Given the description of an element on the screen output the (x, y) to click on. 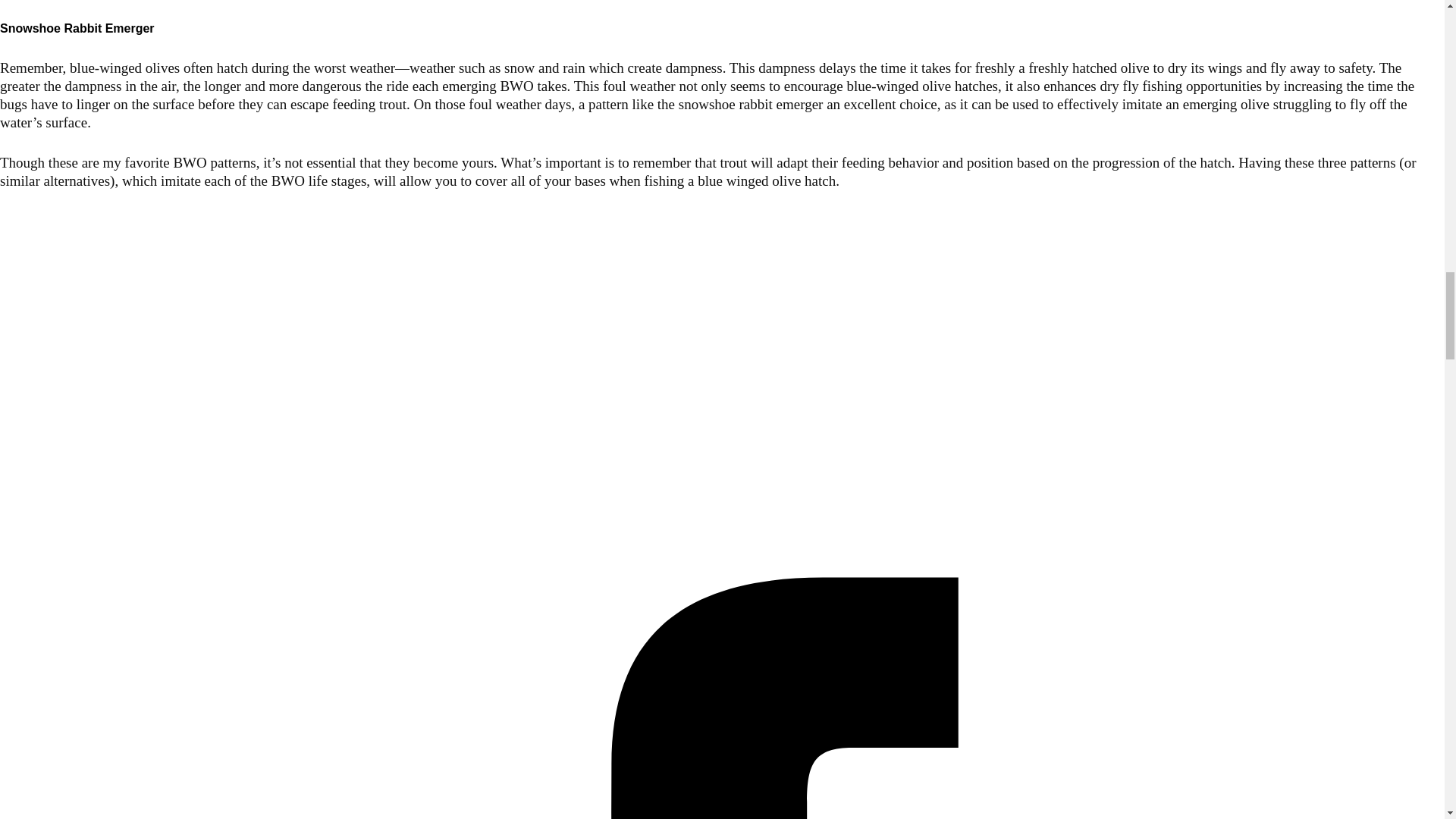
DRY FLY FISHING (41, 296)
FLY PATTERNS (35, 277)
TROUT (16, 239)
NYMPHING (26, 315)
